Given the description of an element on the screen output the (x, y) to click on. 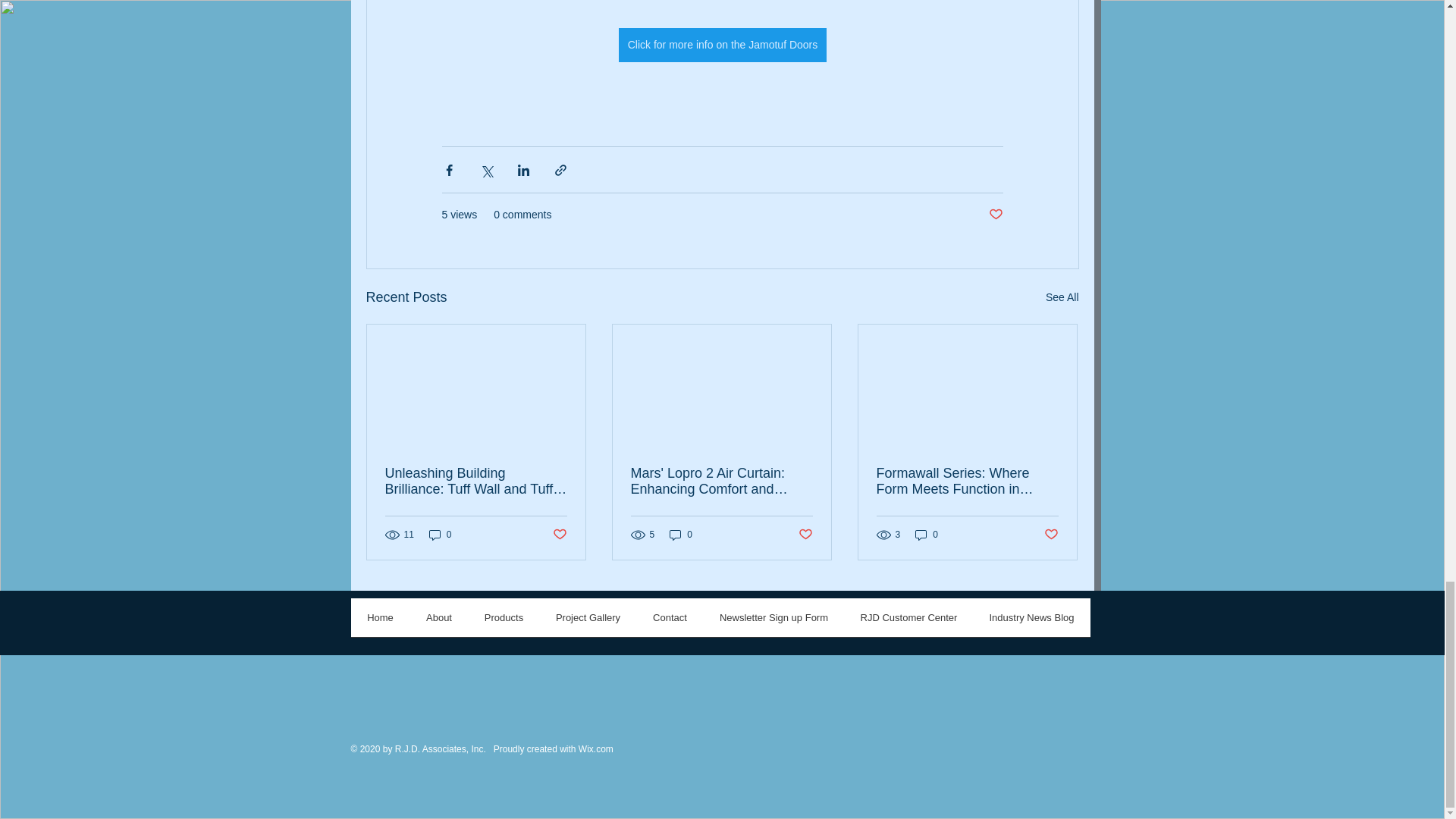
Post not marked as liked (995, 214)
Click for more info on the Jamotuf Doors (722, 44)
Post not marked as liked (558, 534)
0 (440, 534)
See All (1061, 297)
